Given the description of an element on the screen output the (x, y) to click on. 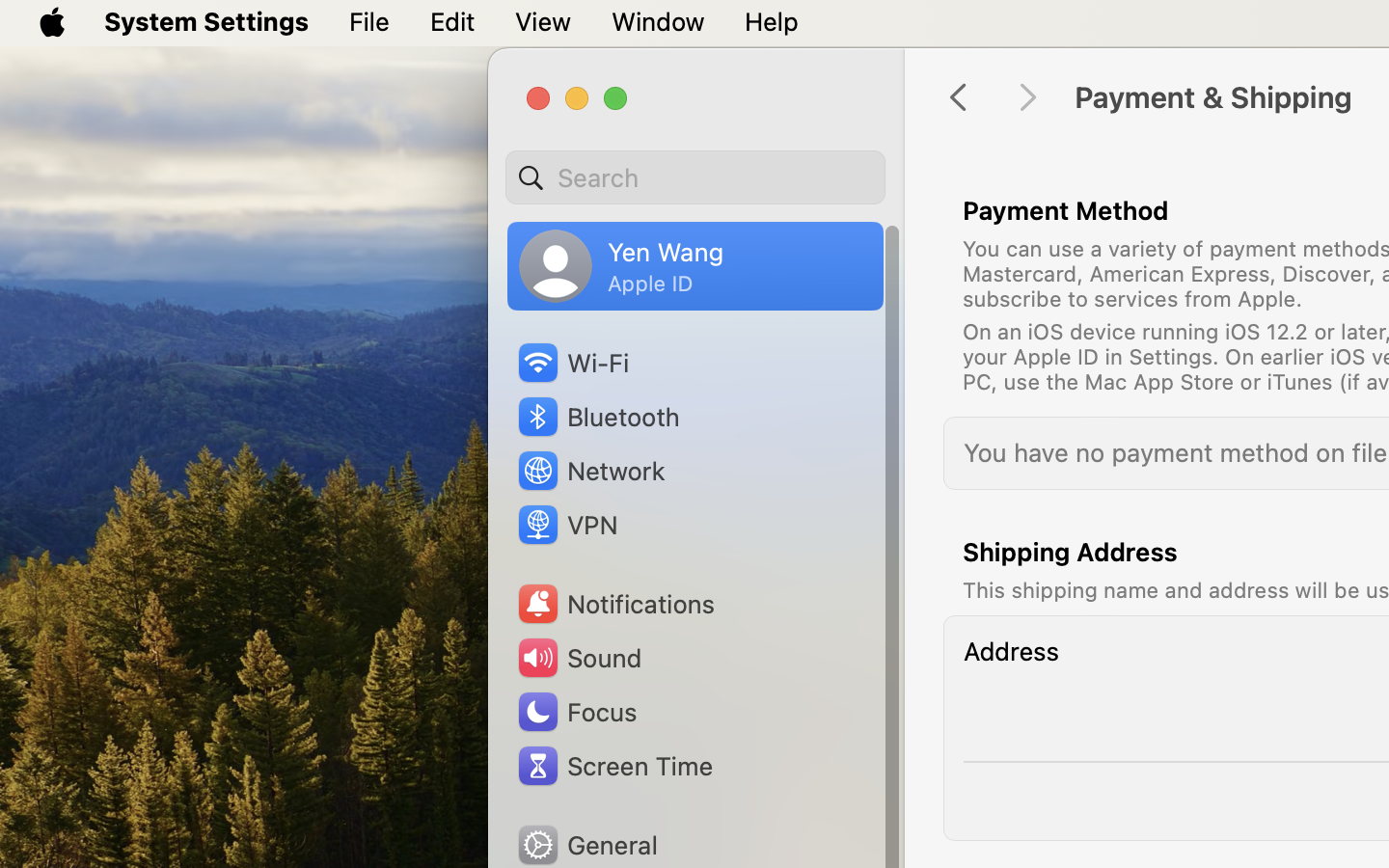
General Element type: AXStaticText (586, 844)
Screen Time Element type: AXStaticText (614, 765)
Network Element type: AXStaticText (590, 470)
